Given the description of an element on the screen output the (x, y) to click on. 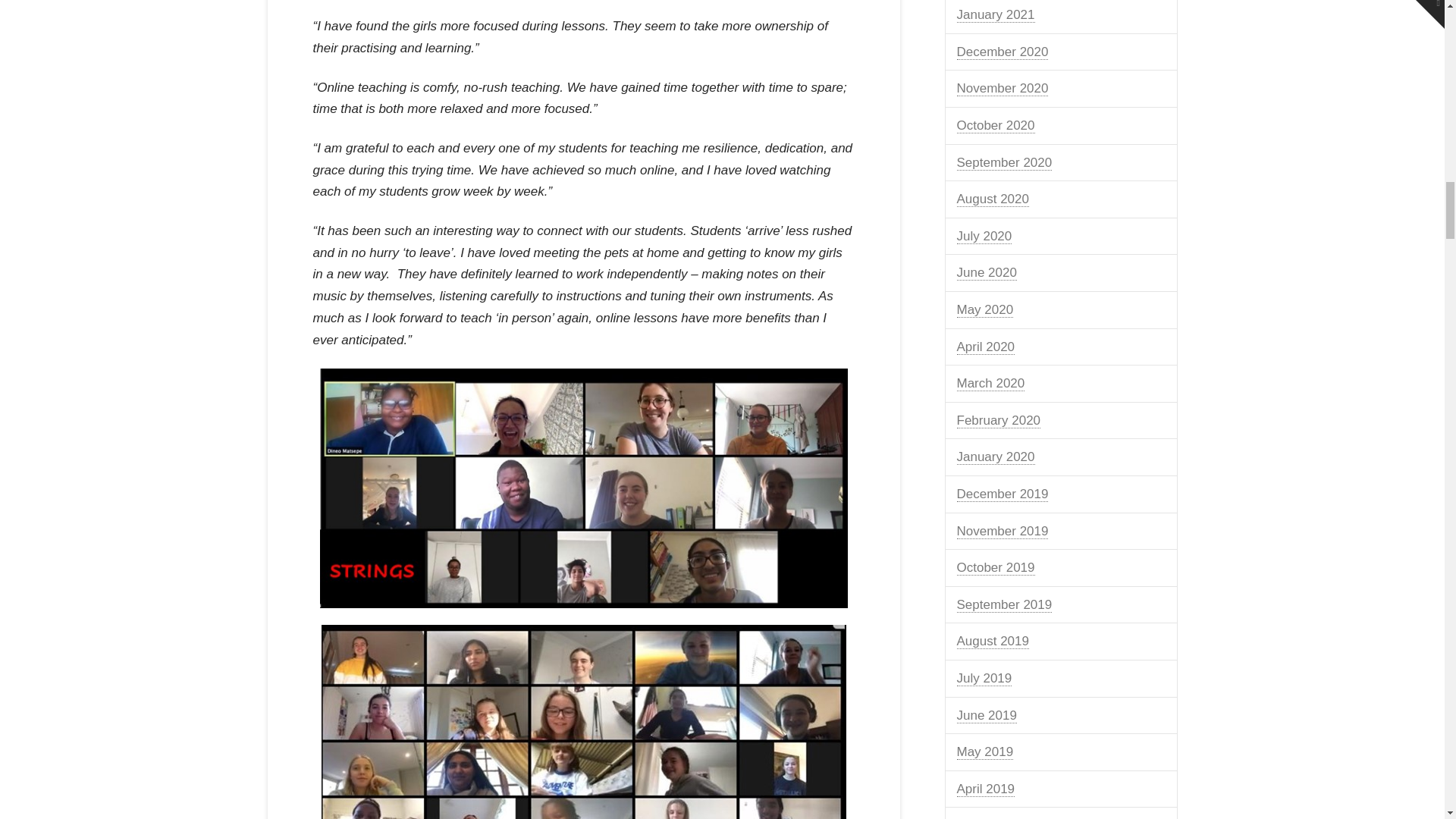
Kingsmead Newsletter July 2020 19 Kingsmead College (583, 721)
Kingsmead Newsletter July 2020 18 Kingsmead College (583, 488)
